Given the description of an element on the screen output the (x, y) to click on. 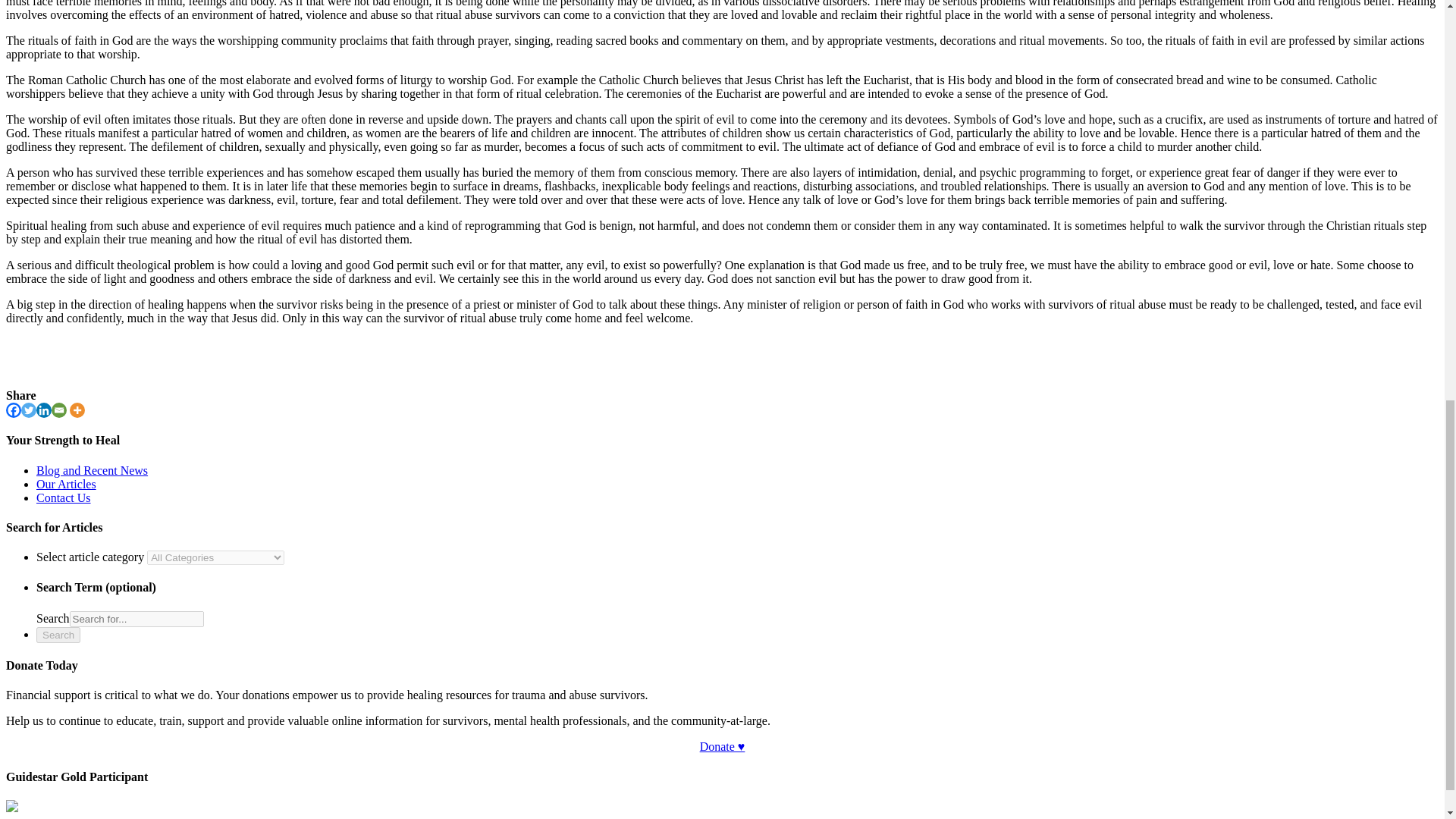
Email (58, 409)
Twitter (28, 409)
Facebook (13, 409)
Linkedin (43, 409)
Search (58, 634)
More (76, 409)
Search (136, 618)
Select article category (215, 557)
